Given the description of an element on the screen output the (x, y) to click on. 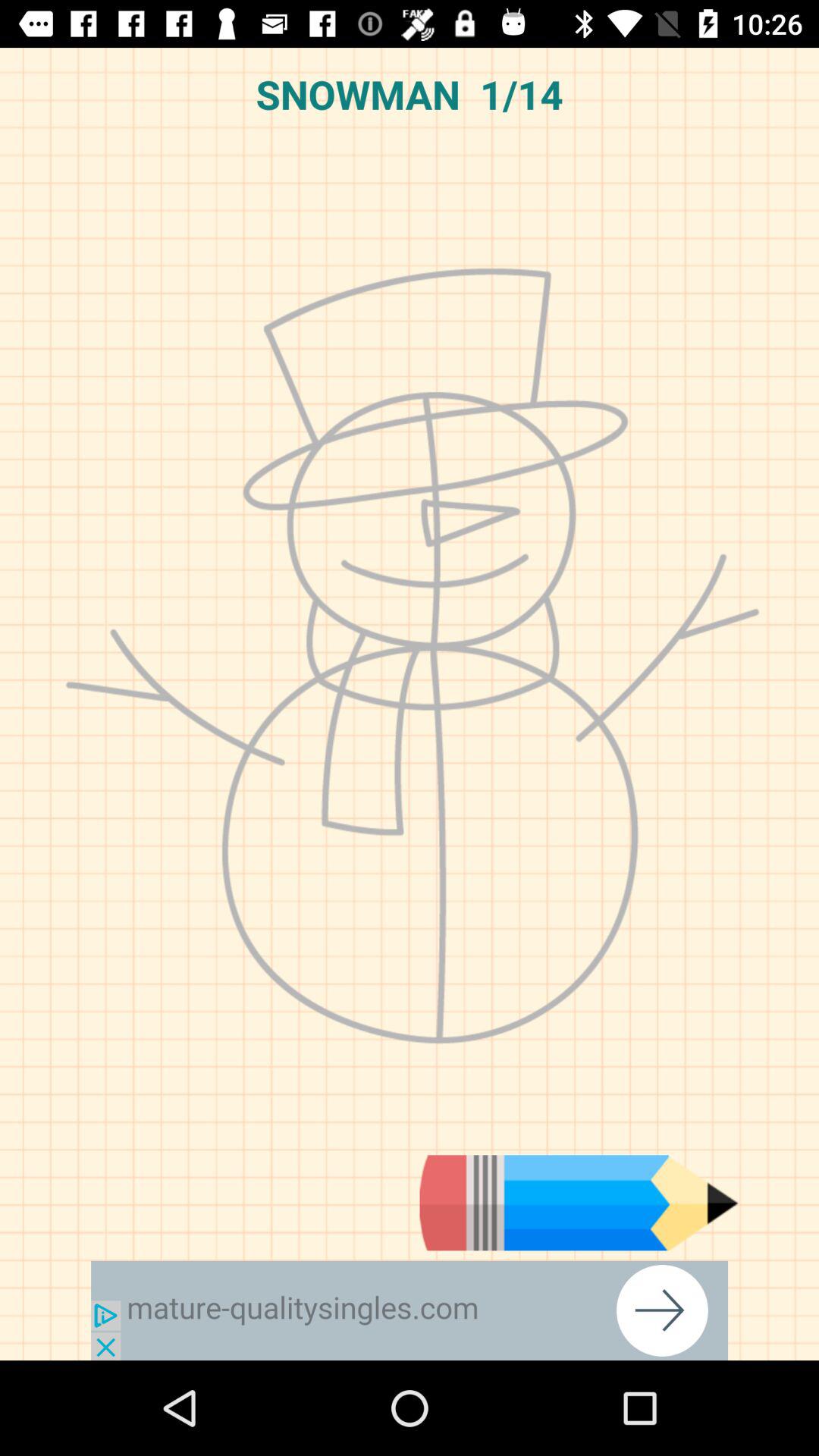
advertisement (409, 1310)
